Given the description of an element on the screen output the (x, y) to click on. 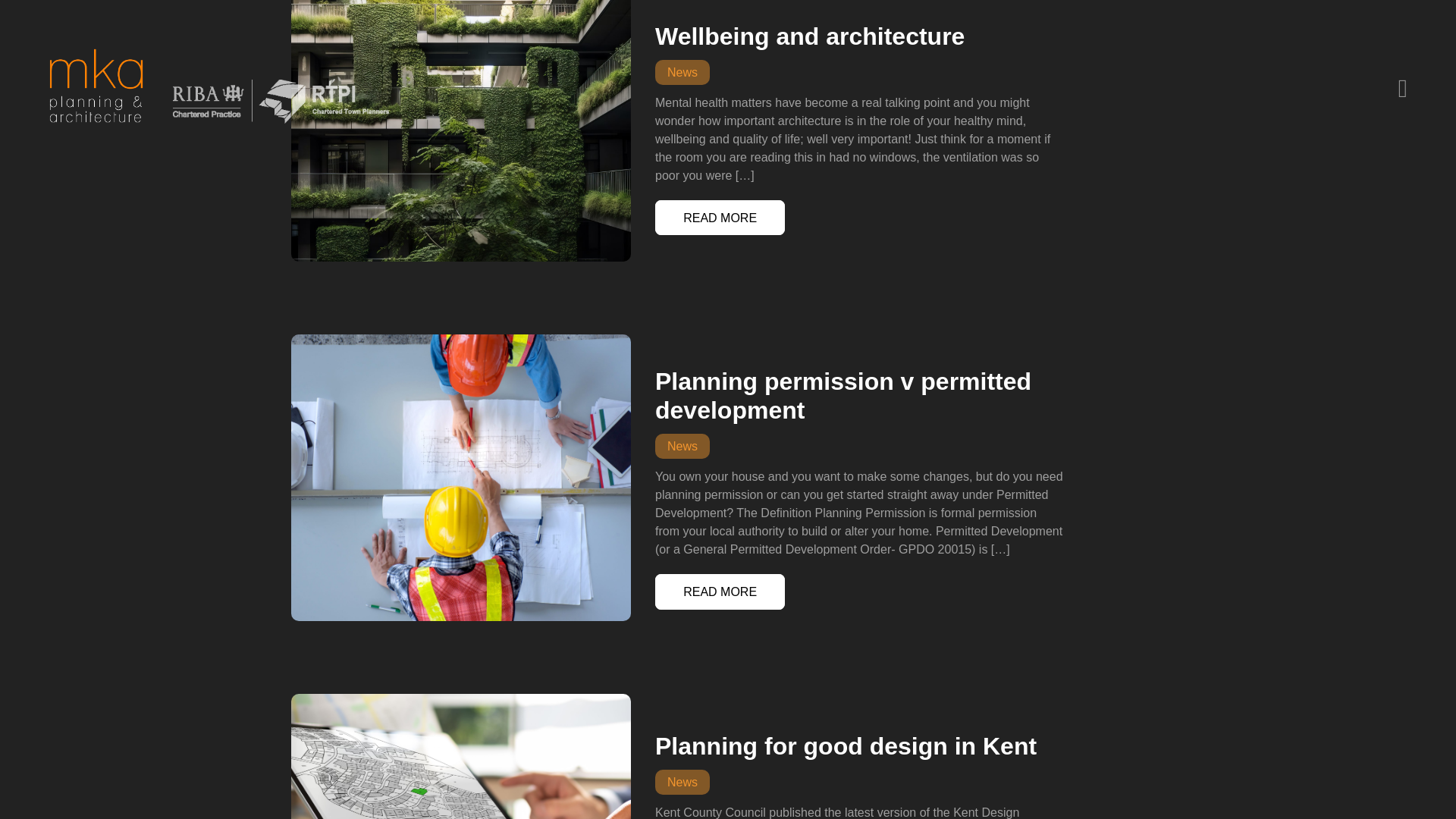
READ MORE (719, 591)
News (682, 781)
News (682, 72)
News (682, 446)
READ MORE (719, 217)
